Given the description of an element on the screen output the (x, y) to click on. 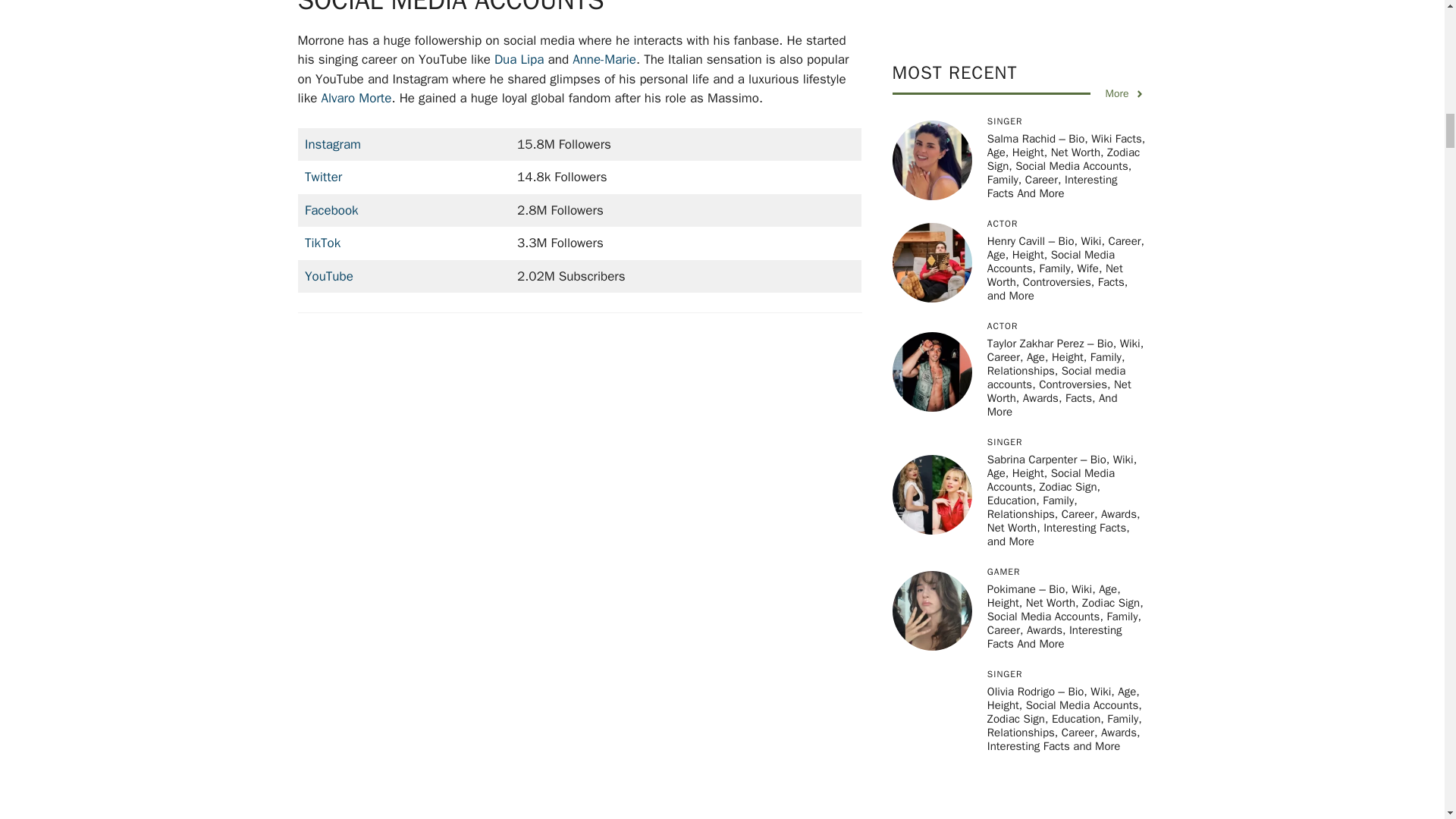
Twitter (323, 176)
Alvaro Morte (355, 98)
Instagram (332, 144)
Facebook (331, 210)
YouTube (328, 276)
Dua Lipa (519, 59)
Anne-Marie (604, 59)
TikTok (322, 242)
